Given the description of an element on the screen output the (x, y) to click on. 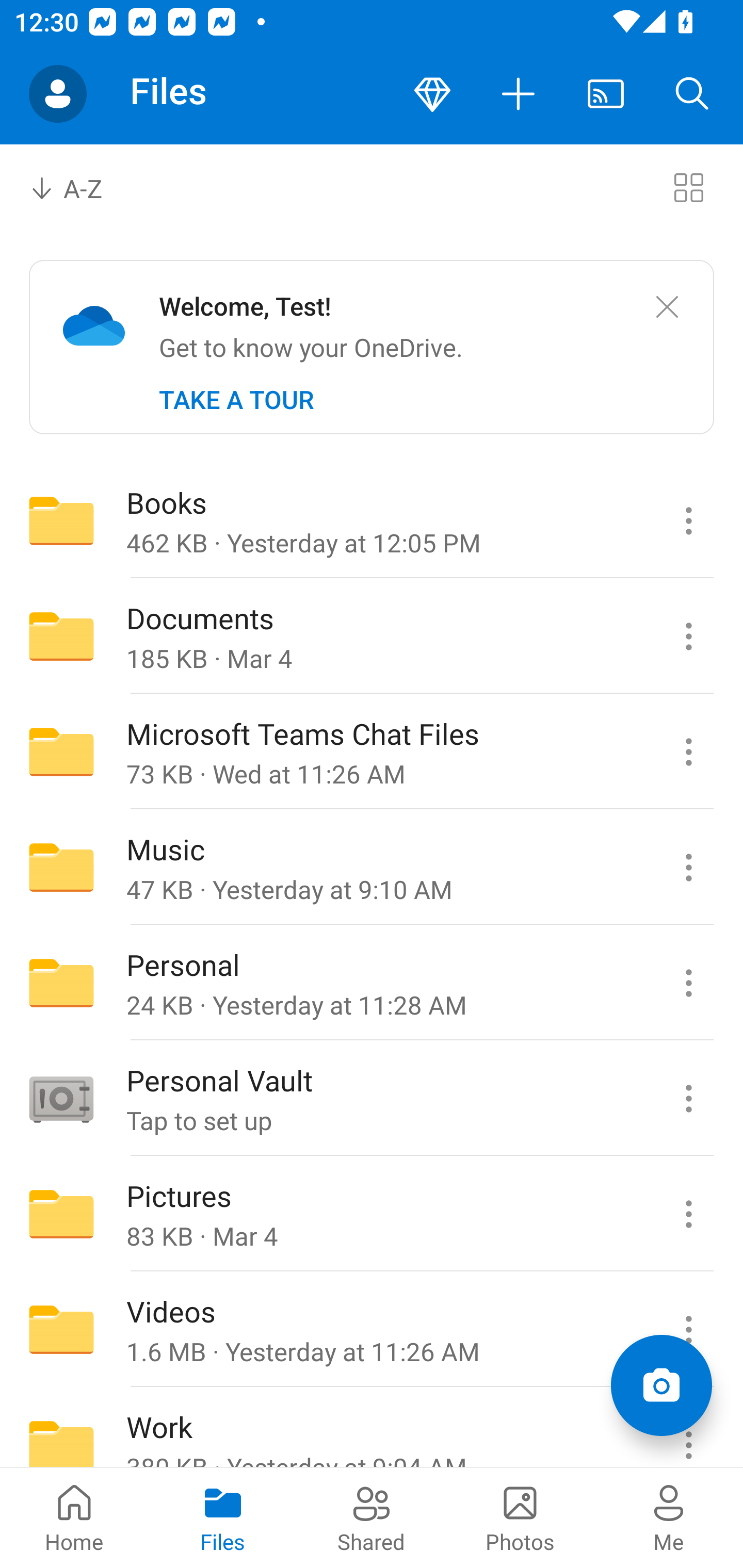
Account switcher (57, 93)
Cast. Disconnected (605, 93)
Premium button (432, 93)
More actions button (518, 93)
Search button (692, 93)
A-Z Sort by combo box, sort by name, A to Z (80, 187)
Switch to tiles view (688, 187)
Close (667, 307)
TAKE A TOUR (236, 399)
Books commands (688, 520)
Folder Documents 185 KB · Mar 4 Documents commands (371, 636)
Documents commands (688, 636)
Microsoft Teams Chat Files commands (688, 751)
Music commands (688, 867)
Personal commands (688, 983)
Personal Vault commands (688, 1099)
Folder Pictures 83 KB · Mar 4 Pictures commands (371, 1214)
Pictures commands (688, 1214)
Videos commands (688, 1329)
Add items Scan (660, 1385)
Work commands (688, 1427)
Home pivot Home (74, 1517)
Shared pivot Shared (371, 1517)
Photos pivot Photos (519, 1517)
Me pivot Me (668, 1517)
